Given the description of an element on the screen output the (x, y) to click on. 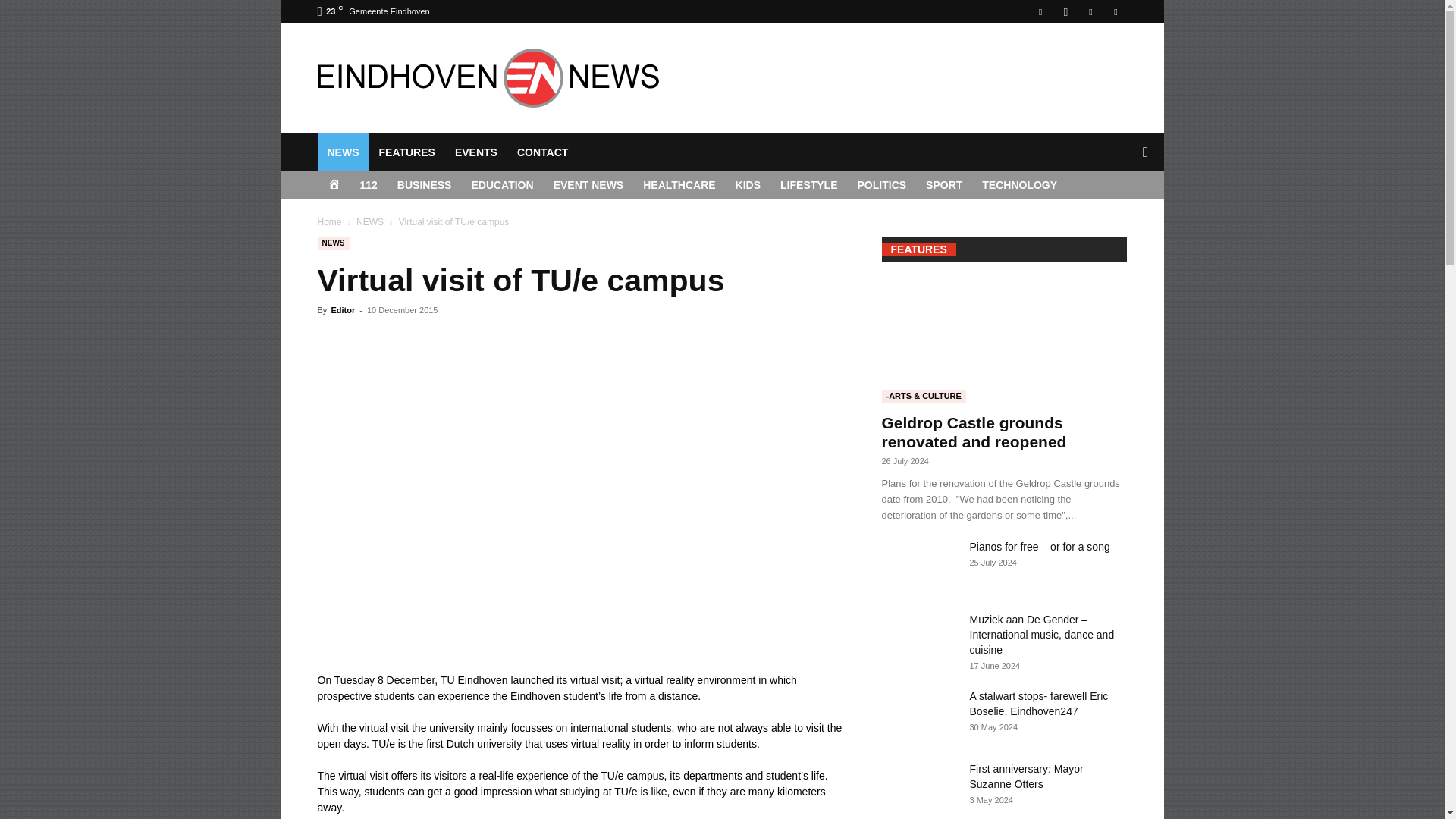
CONTACT (542, 152)
Twitter (1114, 11)
HEALTHCARE (679, 185)
112 (368, 185)
BUSINESS (424, 185)
EDUCATION (502, 185)
NEWS (342, 152)
FEATURES (406, 152)
EVENTS (475, 152)
